Given the description of an element on the screen output the (x, y) to click on. 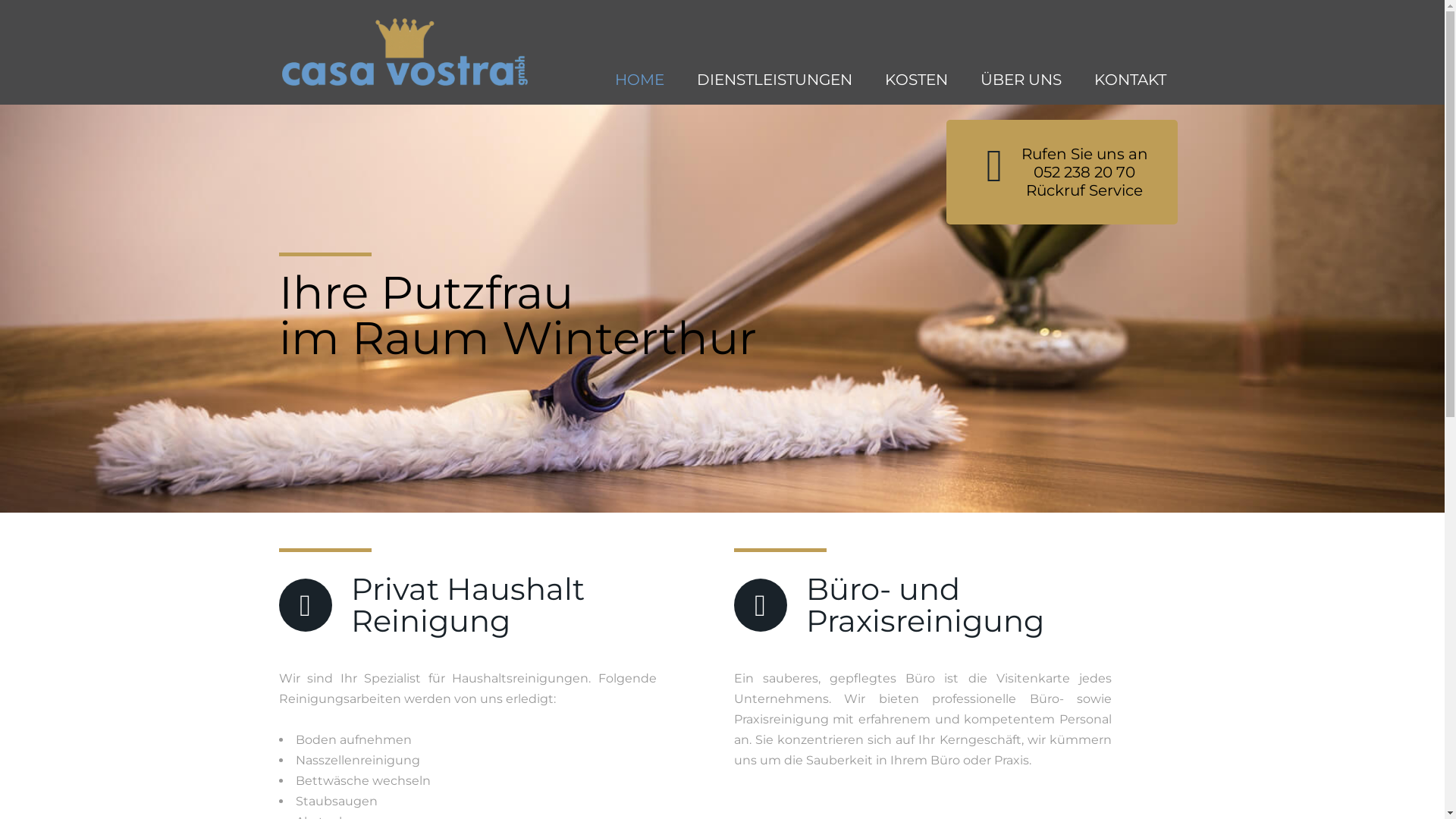
KOSTEN Element type: text (915, 79)
HOME Element type: text (638, 79)
KONTAKT Element type: text (1129, 79)
DIENSTLEISTUNGEN Element type: text (773, 79)
